Given the description of an element on the screen output the (x, y) to click on. 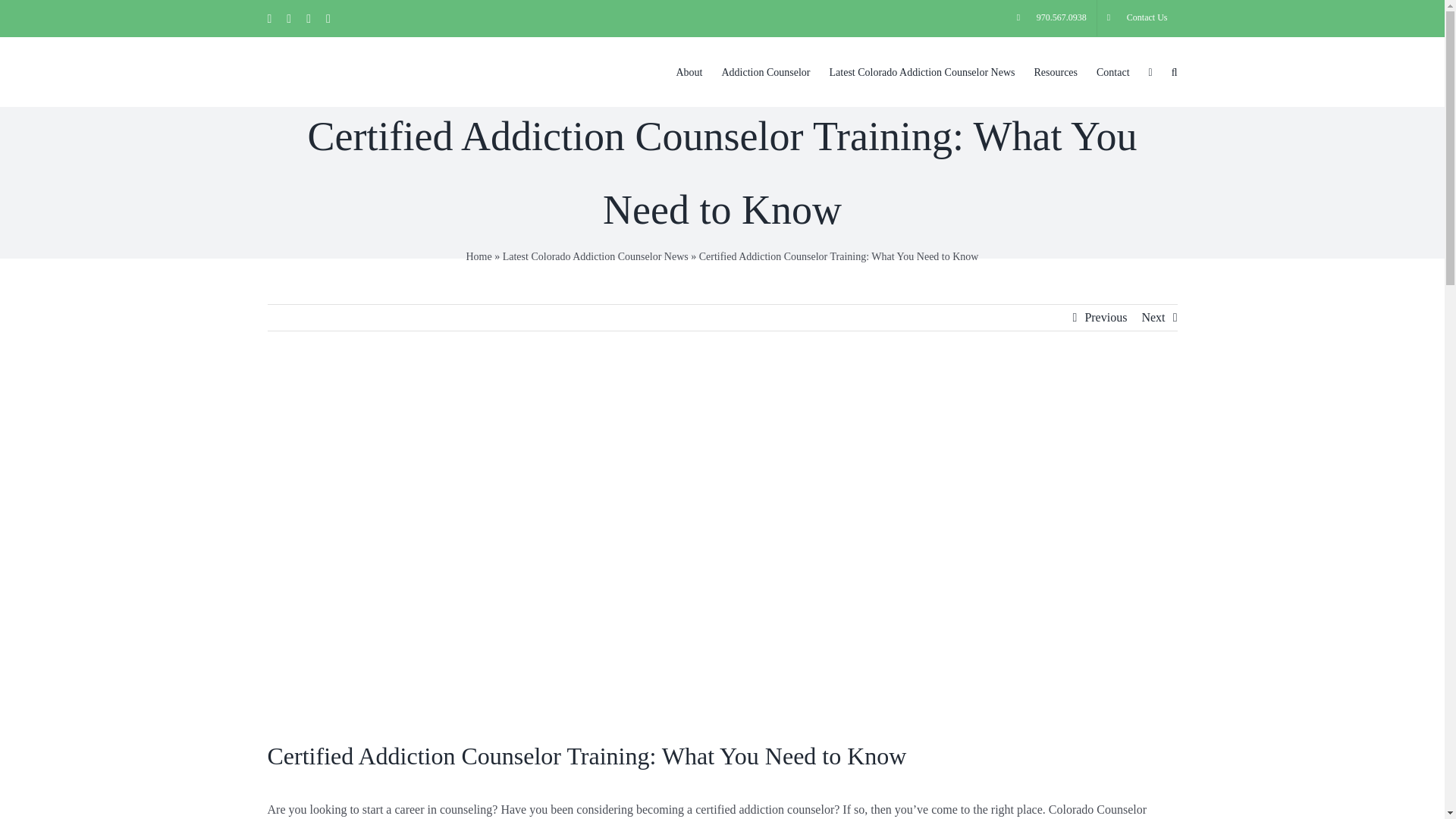
Latest Colorado Addiction Counselor News (595, 256)
Home (478, 256)
Contact Us (1137, 18)
970.567.0938 (1051, 18)
Next (1152, 317)
Previous (1105, 317)
Addiction Counselor (764, 70)
Latest Colorado Addiction Counselor News (921, 70)
